Given the description of an element on the screen output the (x, y) to click on. 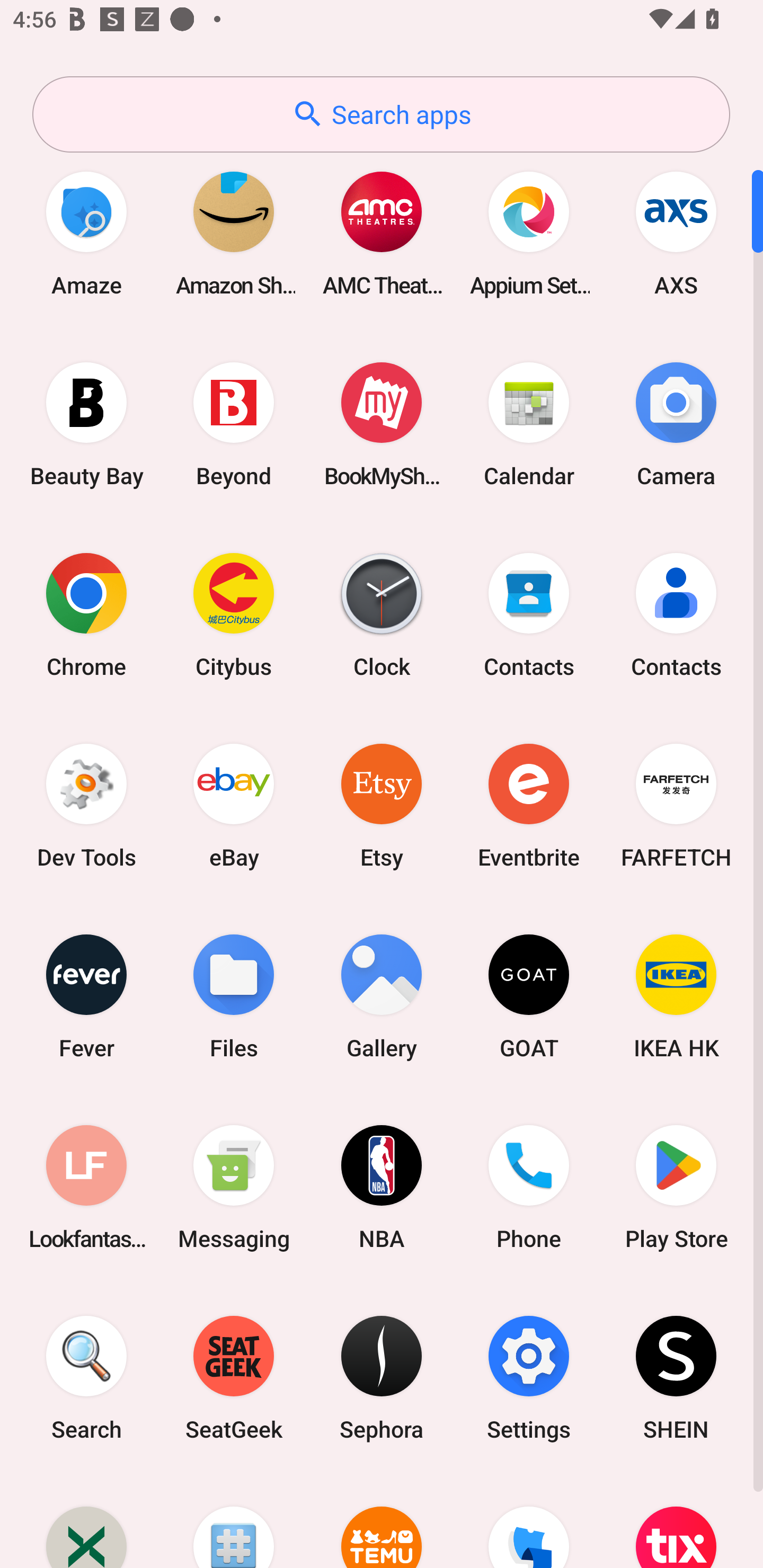
  Search apps (381, 114)
Amaze (86, 233)
Amazon Shopping (233, 233)
AMC Theatres (381, 233)
Appium Settings (528, 233)
AXS (676, 233)
Beauty Bay (86, 424)
Beyond (233, 424)
BookMyShow (381, 424)
Calendar (528, 424)
Camera (676, 424)
Chrome (86, 614)
Citybus (233, 614)
Clock (381, 614)
Contacts (528, 614)
Contacts (676, 614)
Dev Tools (86, 805)
eBay (233, 805)
Etsy (381, 805)
Eventbrite (528, 805)
FARFETCH (676, 805)
Fever (86, 996)
Files (233, 996)
Gallery (381, 996)
GOAT (528, 996)
IKEA HK (676, 996)
Lookfantastic (86, 1186)
Messaging (233, 1186)
NBA (381, 1186)
Phone (528, 1186)
Play Store (676, 1186)
Search (86, 1377)
SeatGeek (233, 1377)
Sephora (381, 1377)
Settings (528, 1377)
SHEIN (676, 1377)
StockX (86, 1520)
Superuser (233, 1520)
Temu (381, 1520)
TickPick (528, 1520)
TodayTix (676, 1520)
